Given the description of an element on the screen output the (x, y) to click on. 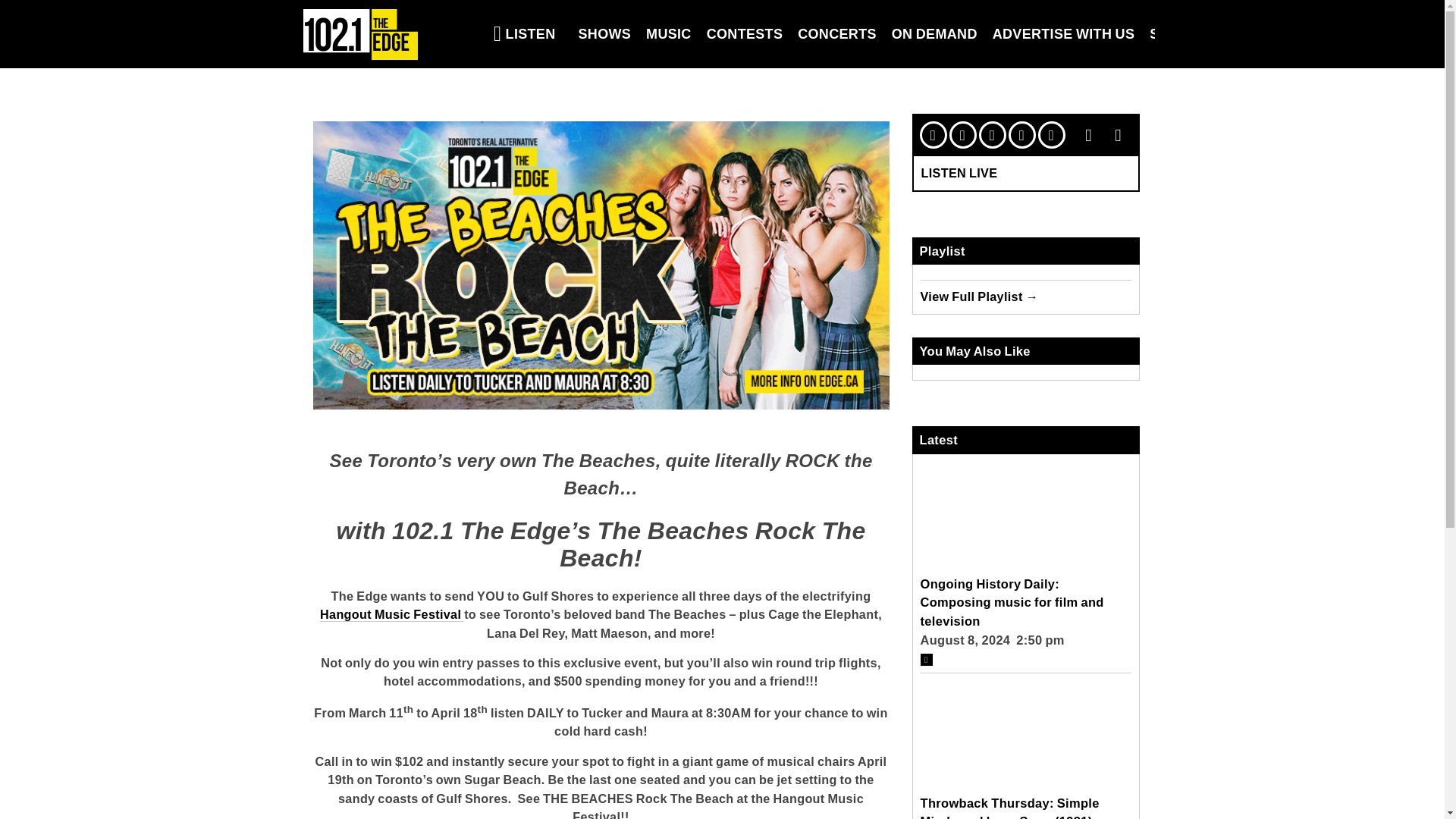
SEARCH (1178, 33)
CONTESTS (744, 33)
MUSIC (668, 33)
Hangout Music Festival (392, 614)
ON DEMAND (934, 33)
CONCERTS (836, 33)
SHOWS (604, 33)
ADVERTISE WITH US (1063, 33)
LISTEN (524, 33)
